Given the description of an element on the screen output the (x, y) to click on. 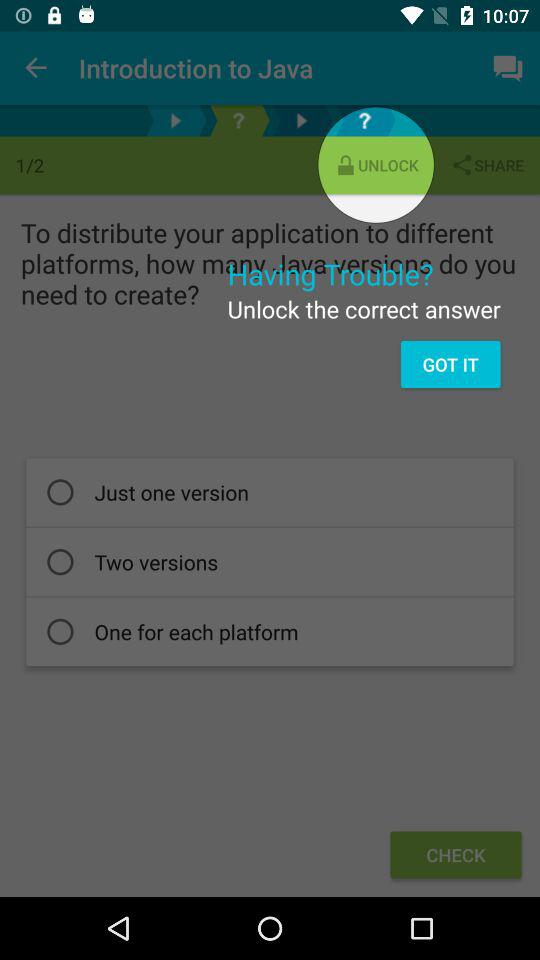
start a lesson (301, 120)
